Given the description of an element on the screen output the (x, y) to click on. 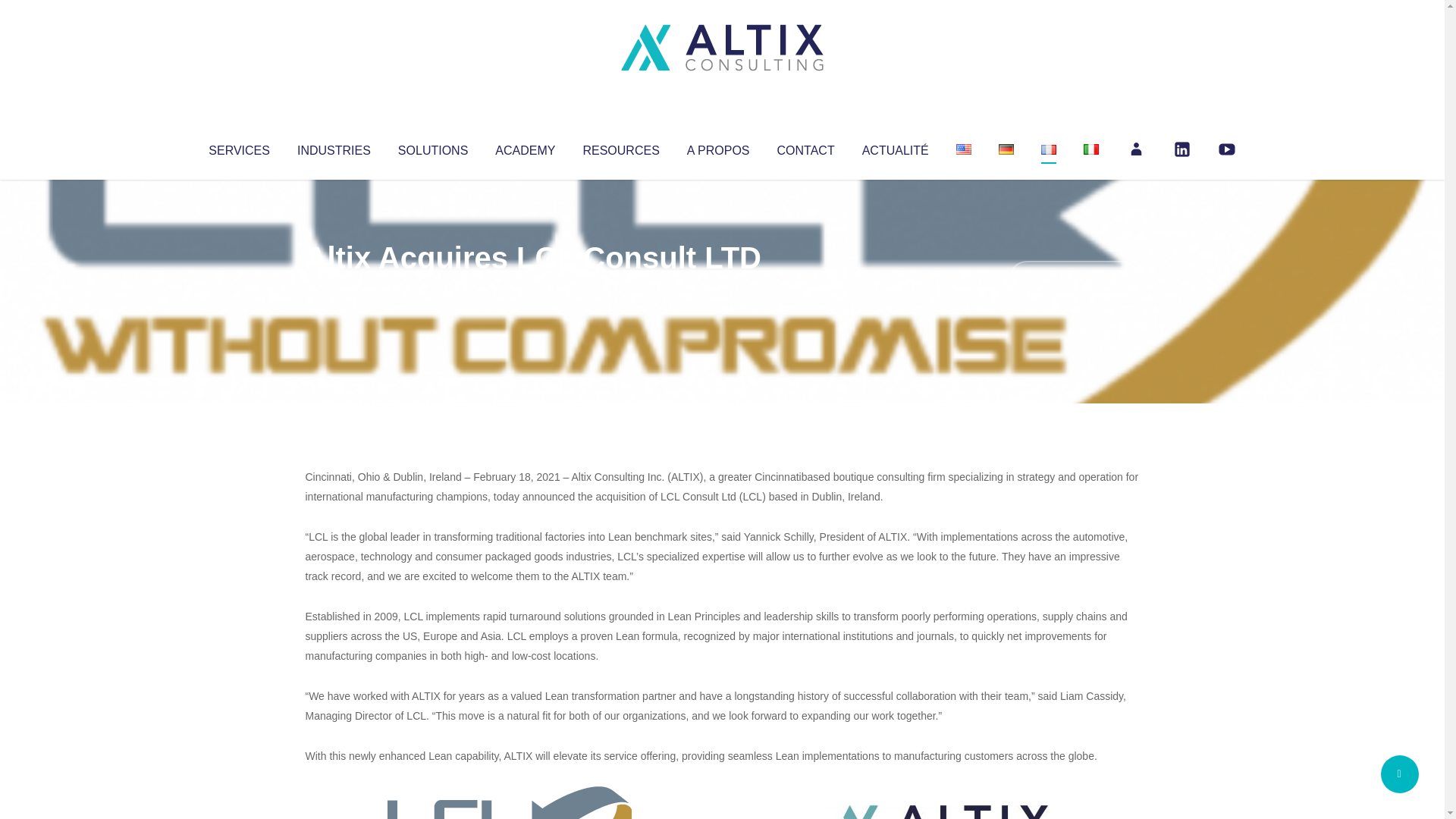
INDUSTRIES (334, 146)
RESOURCES (620, 146)
Uncategorized (530, 287)
No Comments (1073, 278)
Articles par Altix (333, 287)
SOLUTIONS (432, 146)
SERVICES (238, 146)
A PROPOS (718, 146)
Altix (333, 287)
ACADEMY (524, 146)
